Given the description of an element on the screen output the (x, y) to click on. 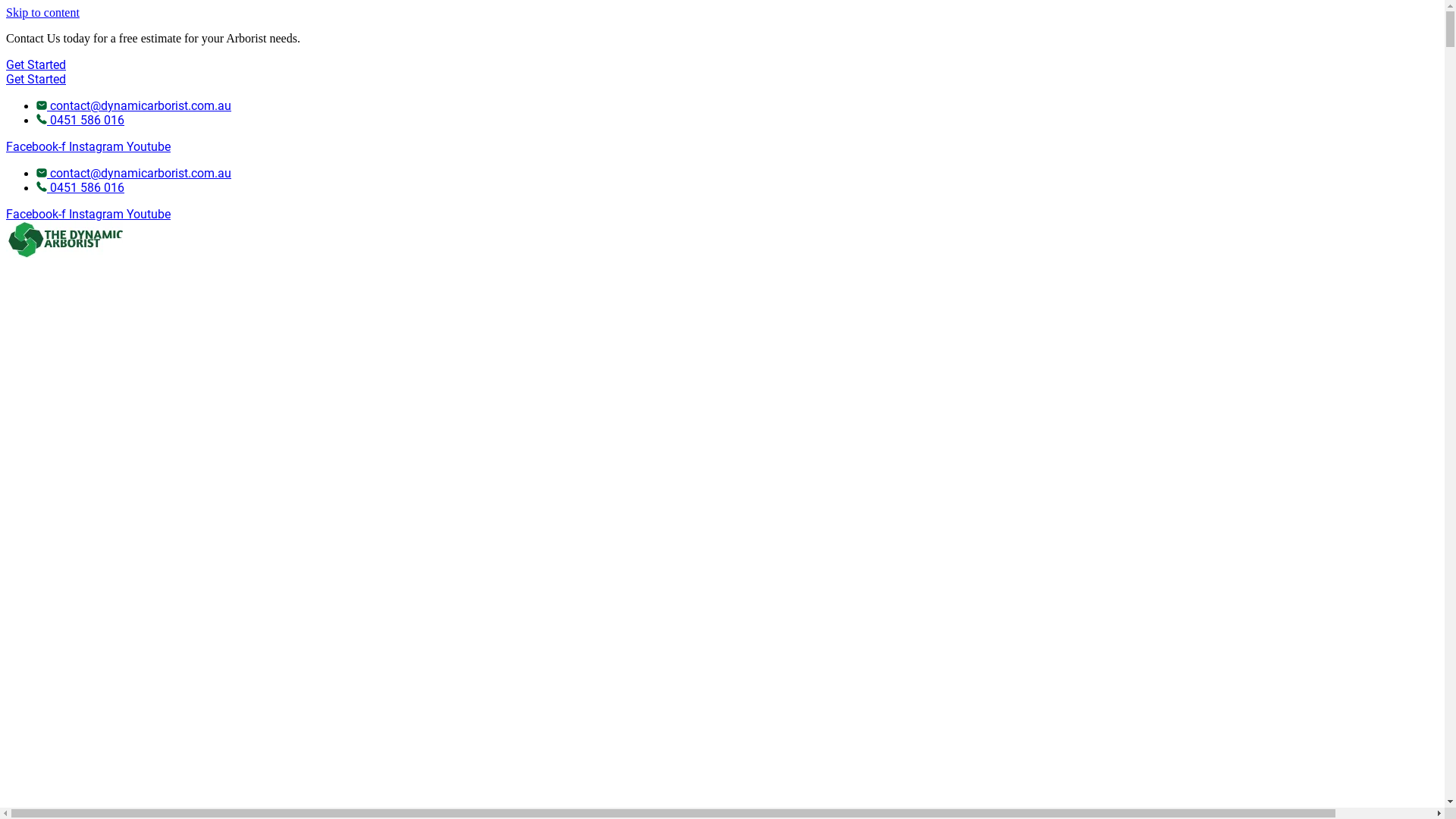
The Dynamic Arborist Element type: hover (64, 239)
Skip to content Element type: text (42, 12)
Youtube Element type: text (148, 146)
contact@dynamicarborist.com.au Element type: text (133, 172)
Instagram Element type: text (97, 146)
Facebook-f Element type: text (37, 214)
contact@dynamicarborist.com.au Element type: text (133, 105)
Get Started Element type: text (35, 64)
Youtube Element type: text (148, 214)
Facebook-f Element type: text (37, 146)
Instagram Element type: text (97, 214)
Get Started Element type: text (35, 78)
0451 586 016 Element type: text (80, 119)
0451 586 016 Element type: text (80, 187)
